Given the description of an element on the screen output the (x, y) to click on. 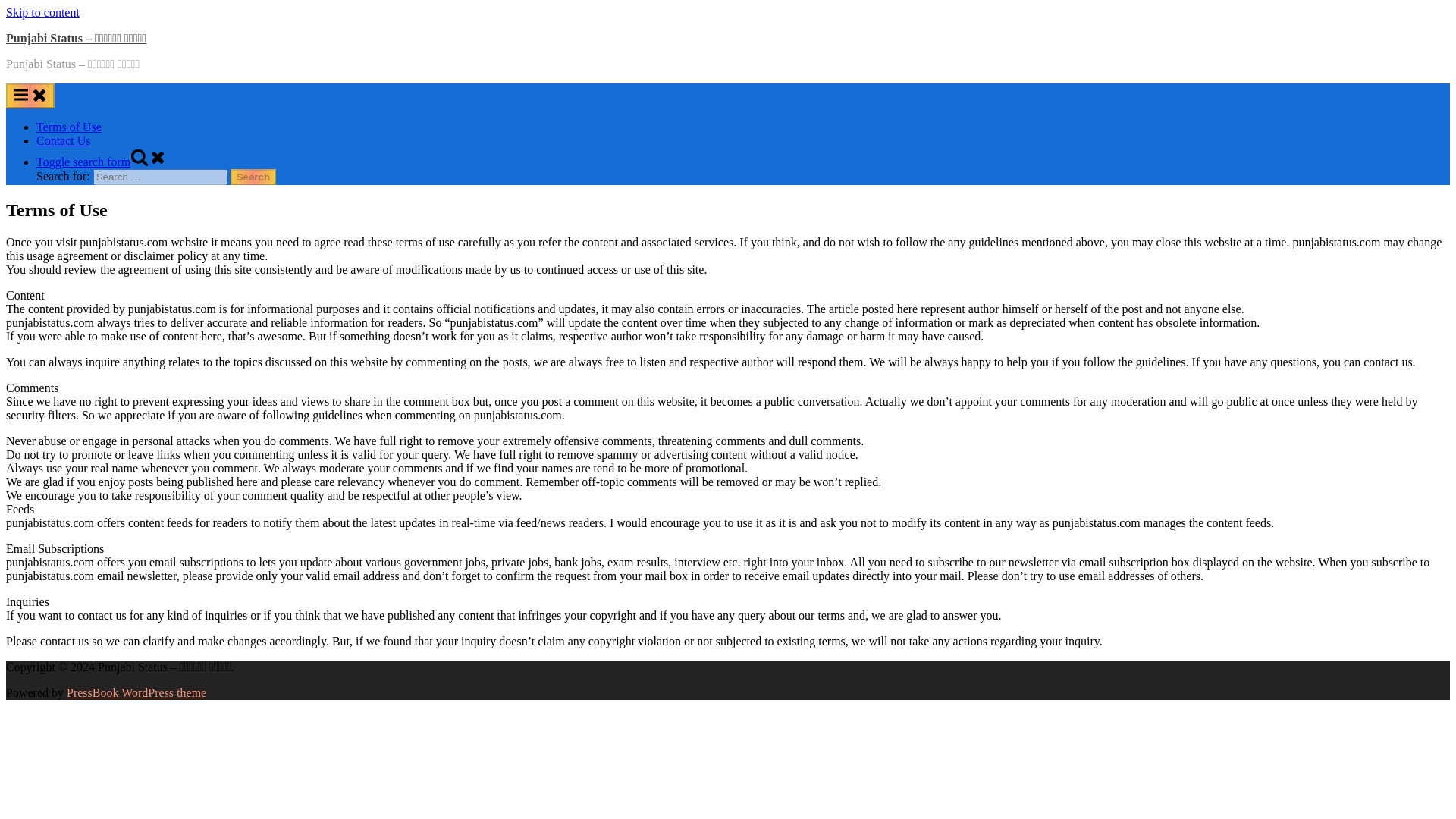
Skip to content (42, 11)
Toggle search form (101, 161)
Terms of Use (68, 126)
Search (253, 176)
Search (253, 176)
Contact Us (63, 140)
Search (253, 176)
